Given the description of an element on the screen output the (x, y) to click on. 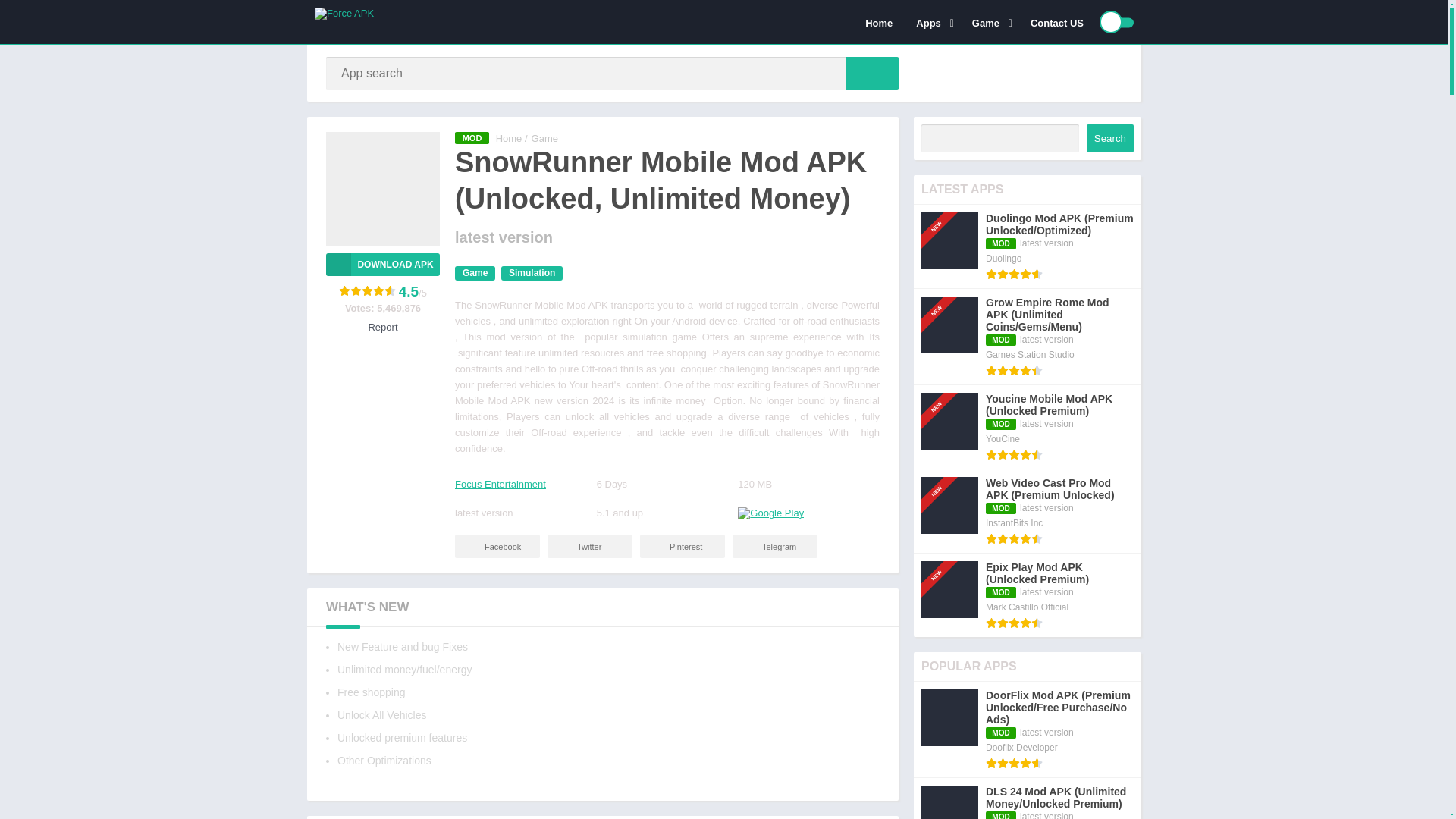
Apps (931, 22)
Home (878, 22)
Download APK (382, 264)
Twitter (589, 545)
Home (509, 138)
Game (544, 138)
Facebook (497, 545)
Force APK (509, 138)
Simulation (531, 273)
Contact US (1056, 22)
